Given the description of an element on the screen output the (x, y) to click on. 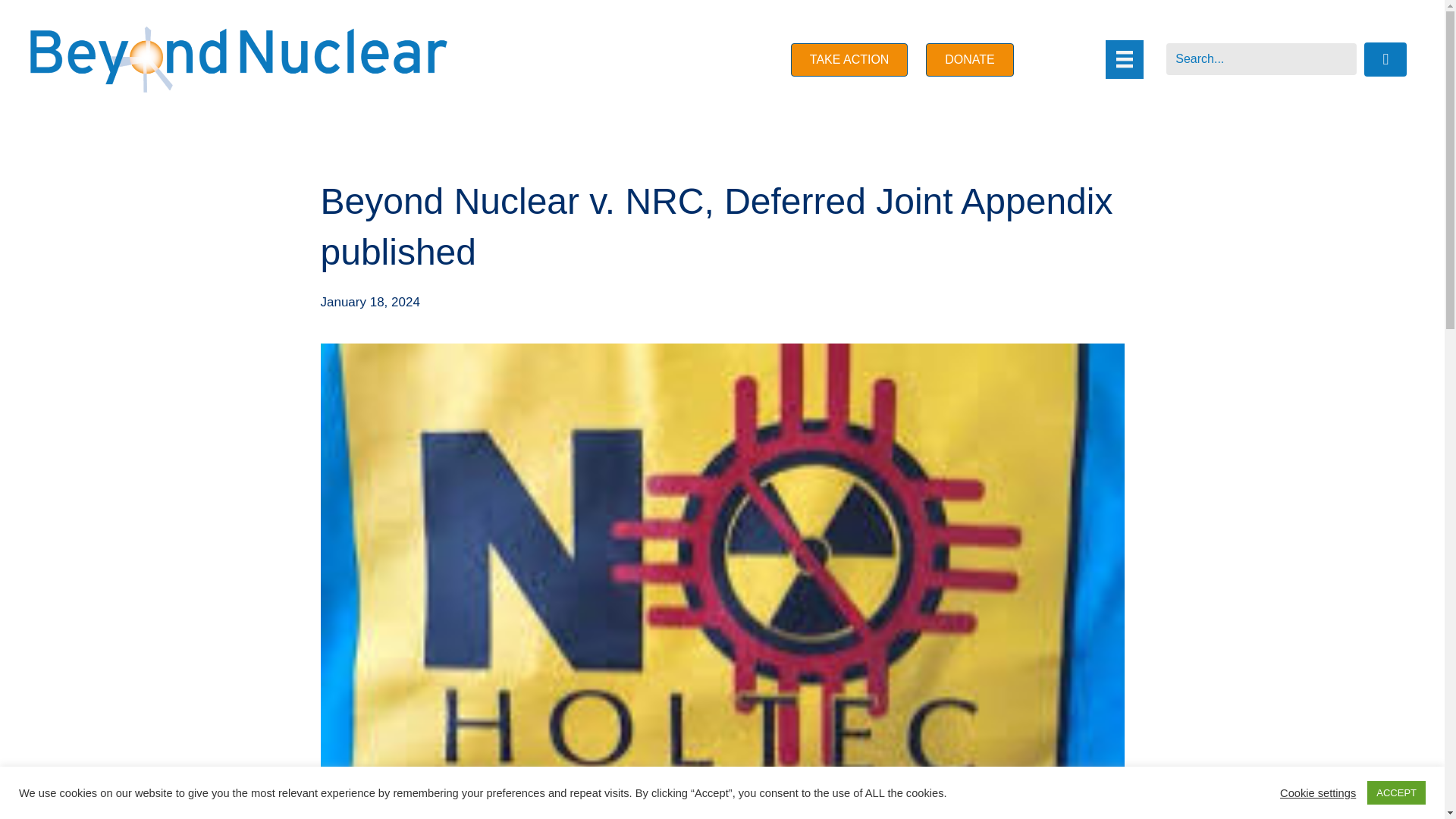
DONATE (969, 59)
TAKE ACTION (849, 59)
Cookie settings (1317, 792)
